Given the description of an element on the screen output the (x, y) to click on. 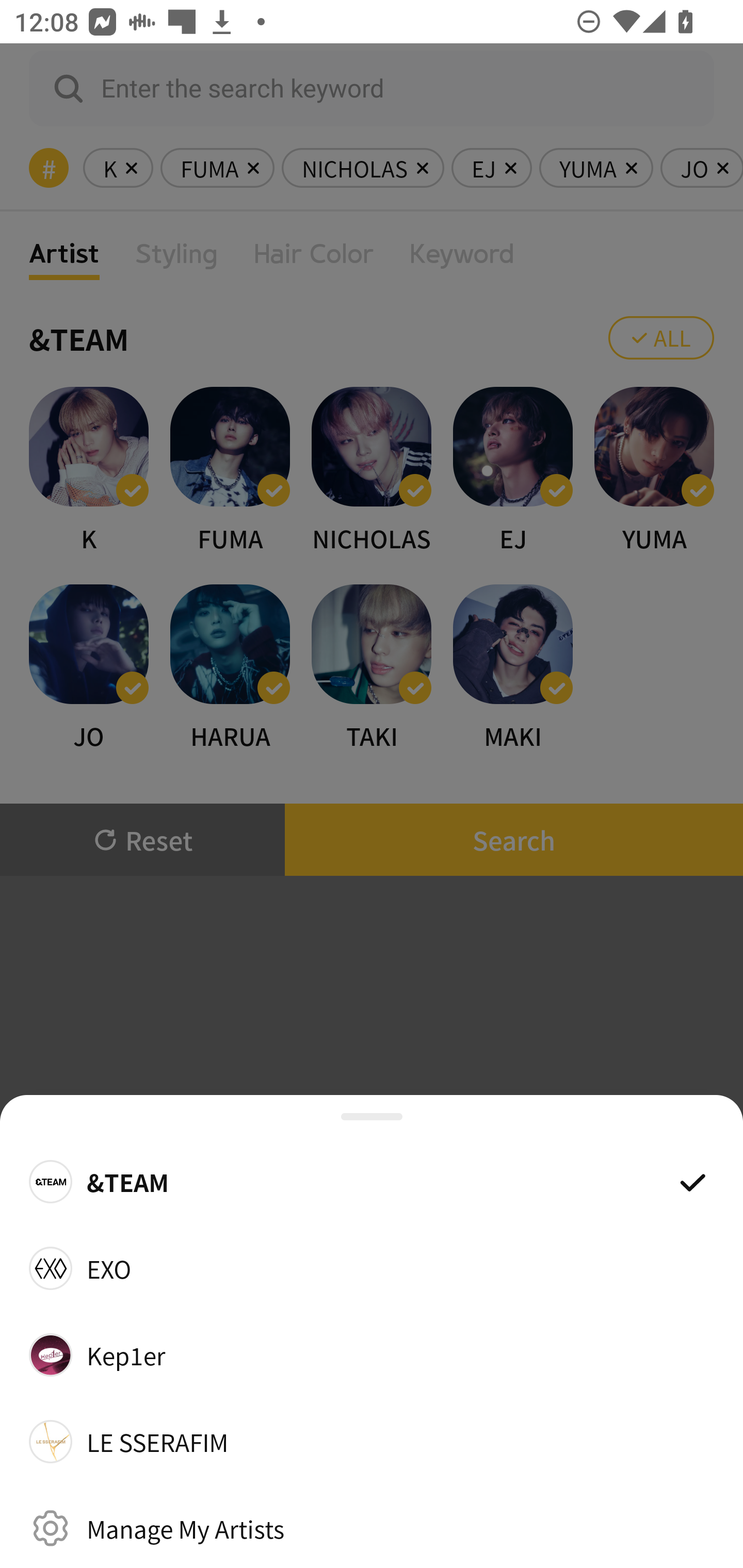
&TEAM (371, 1181)
EXO (371, 1268)
Kep1er (371, 1354)
LE SSERAFIM (371, 1441)
Manage My Artists (371, 1527)
